Given the description of an element on the screen output the (x, y) to click on. 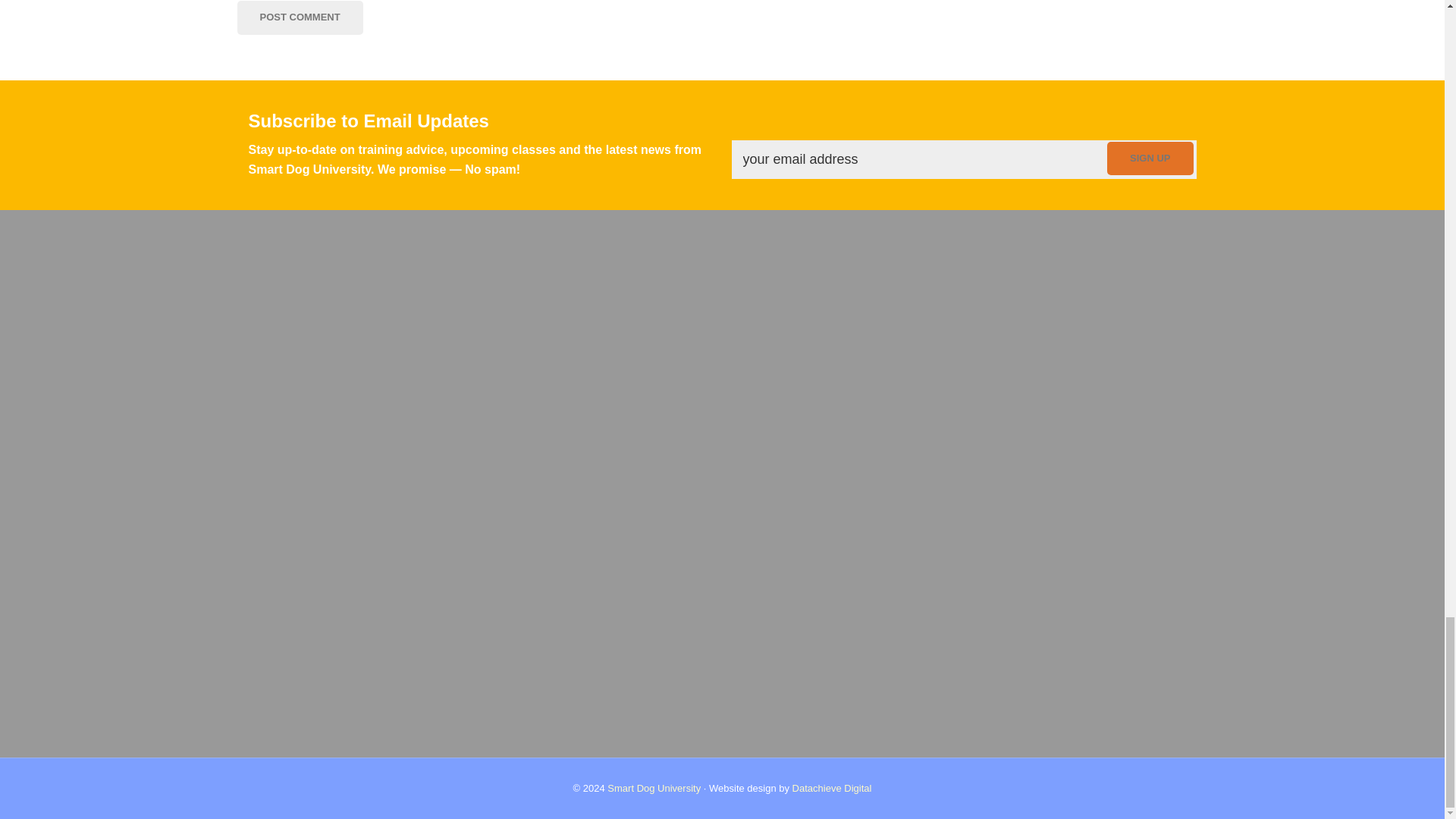
Post Comment (298, 17)
Post Comment (298, 17)
Sign Up (1149, 158)
